Given the description of an element on the screen output the (x, y) to click on. 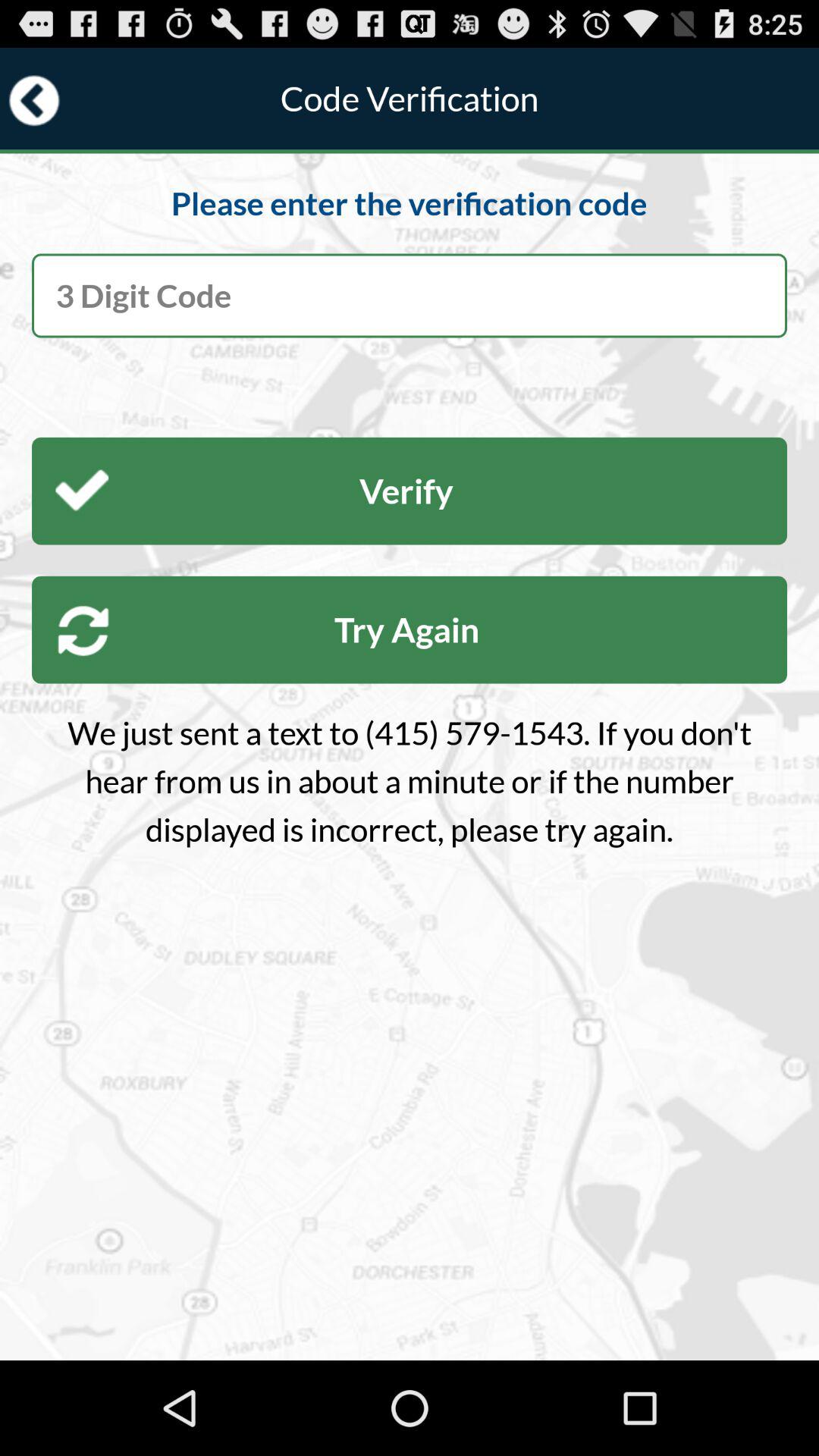
turn on item above we just sent item (409, 629)
